Given the description of an element on the screen output the (x, y) to click on. 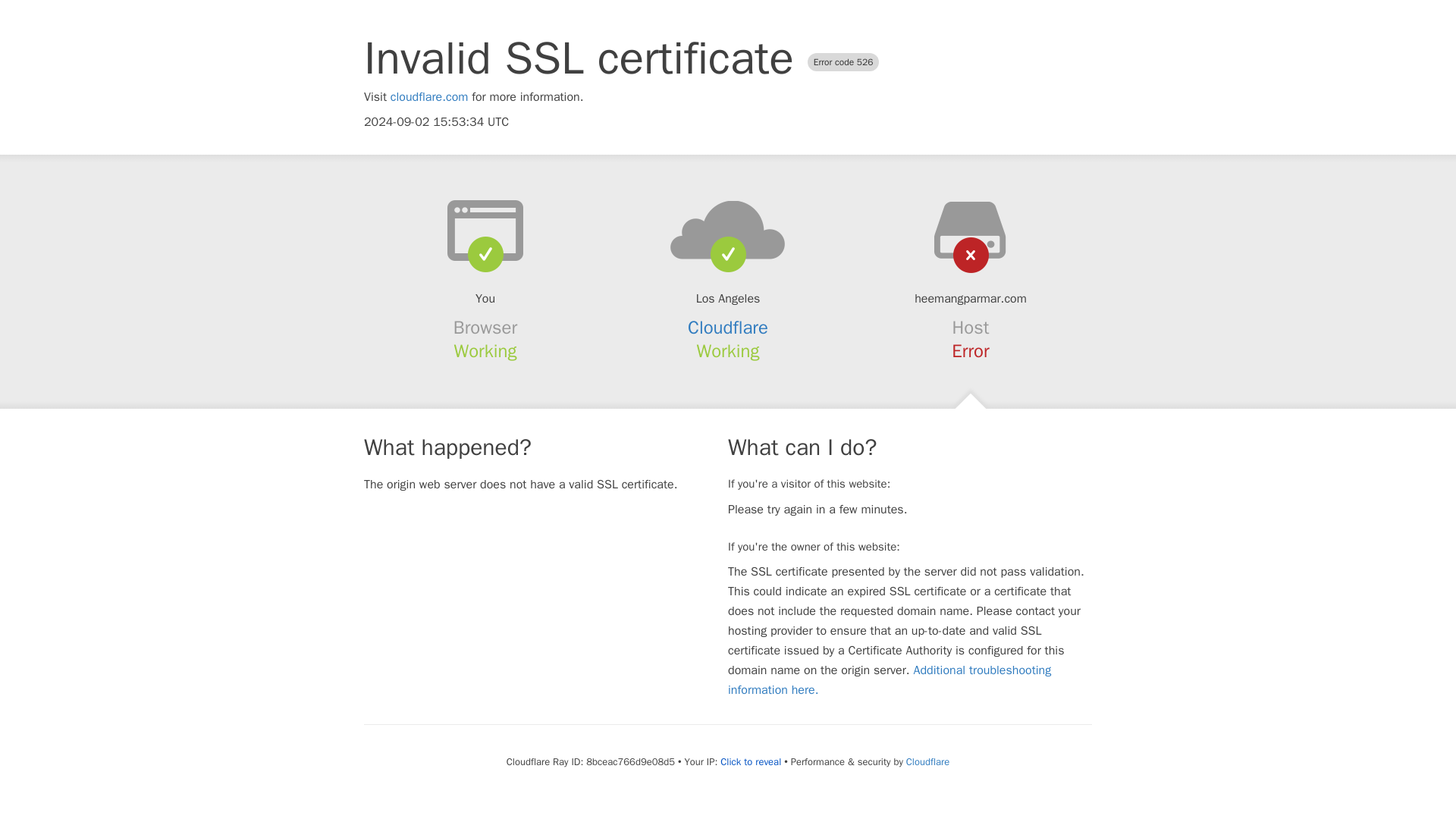
Cloudflare (927, 761)
Additional troubleshooting information here. (889, 679)
cloudflare.com (429, 96)
Cloudflare (727, 327)
Click to reveal (750, 762)
